Given the description of an element on the screen output the (x, y) to click on. 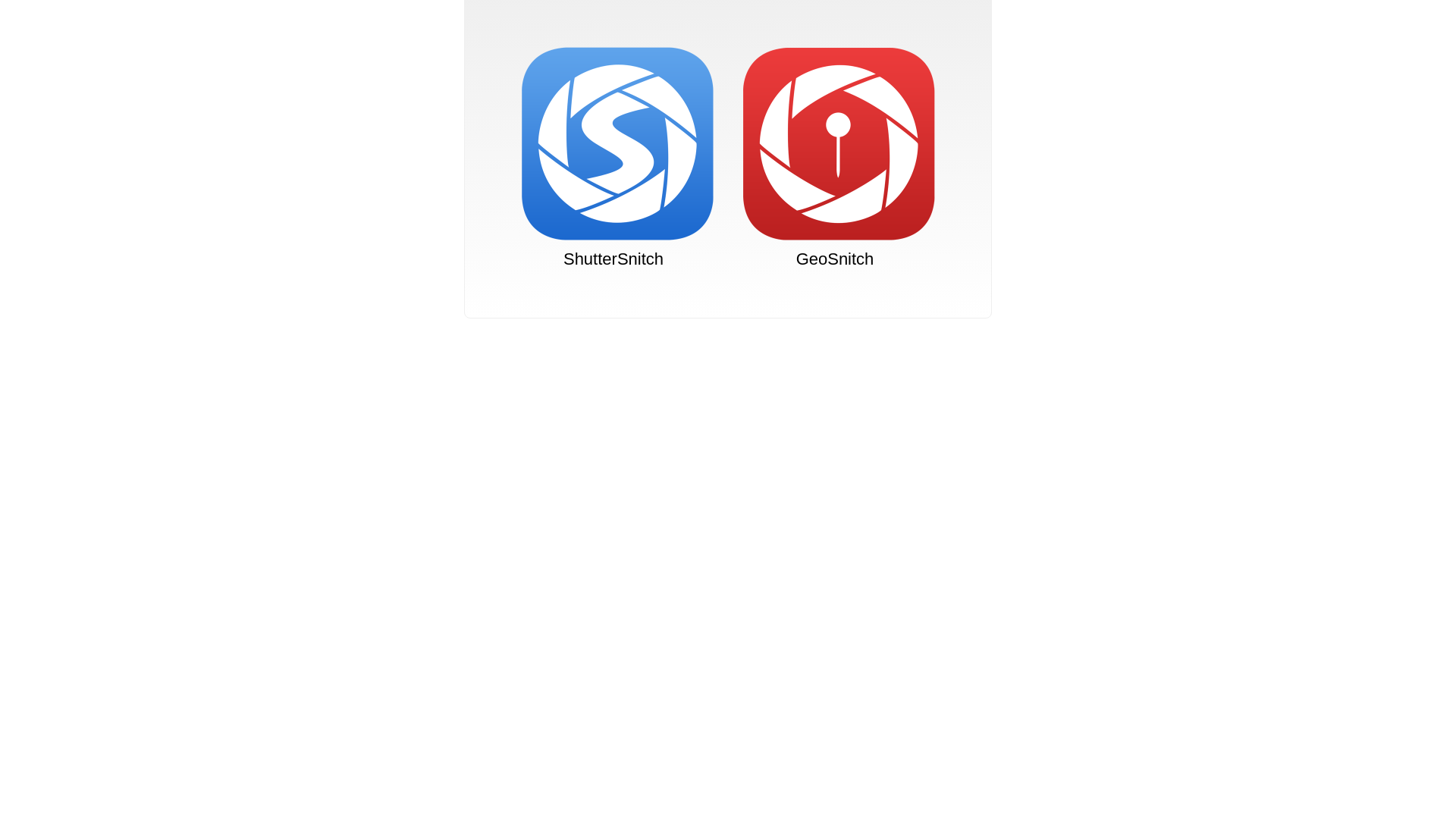
ShutterSnitch Element type: text (613, 158)
GeoSnitch Element type: text (834, 158)
